Given the description of an element on the screen output the (x, y) to click on. 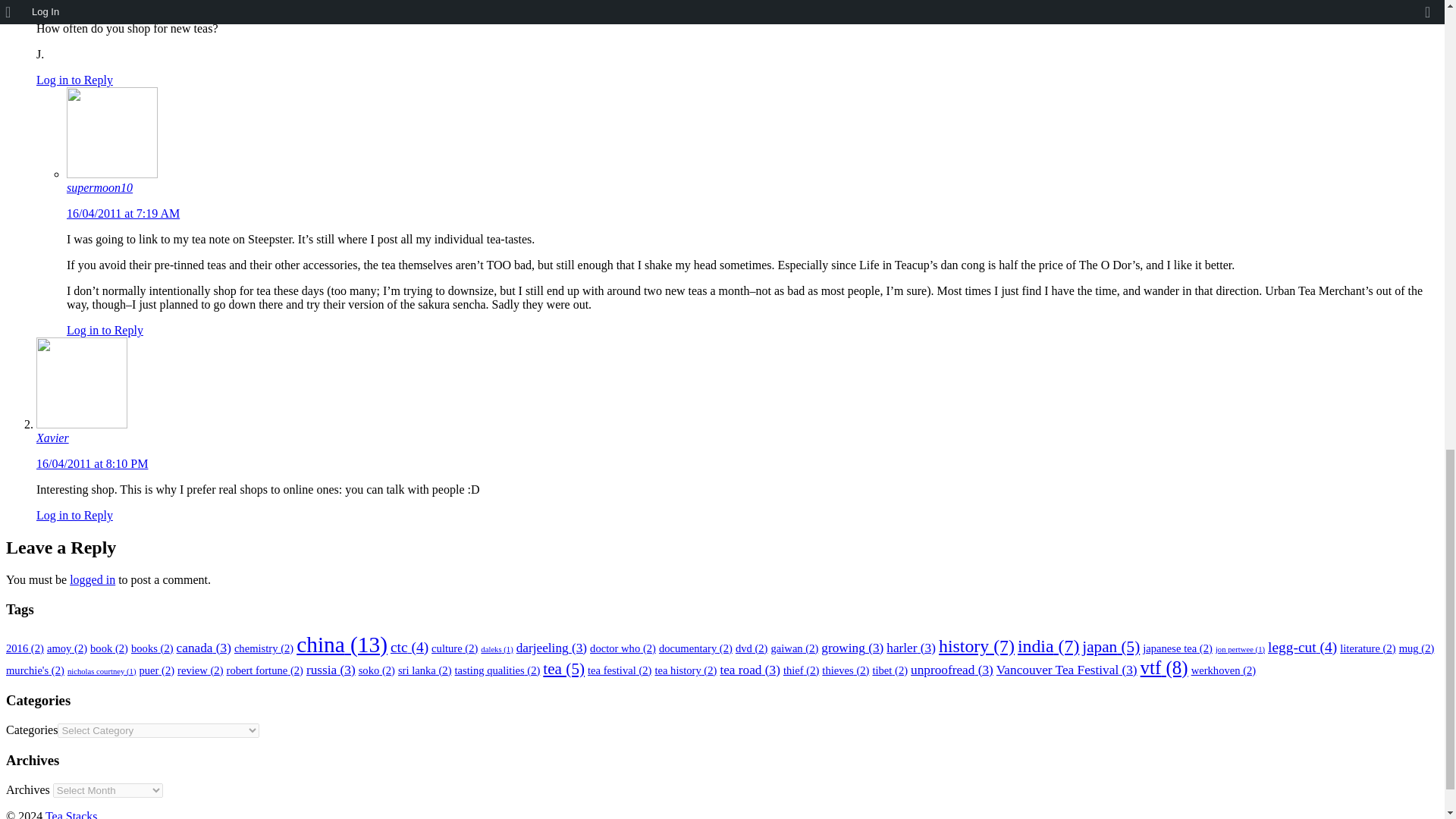
supermoon10 (99, 187)
Xavier (52, 437)
Log in to Reply (74, 79)
Log in to Reply (74, 514)
Log in to Reply (104, 329)
